Given the description of an element on the screen output the (x, y) to click on. 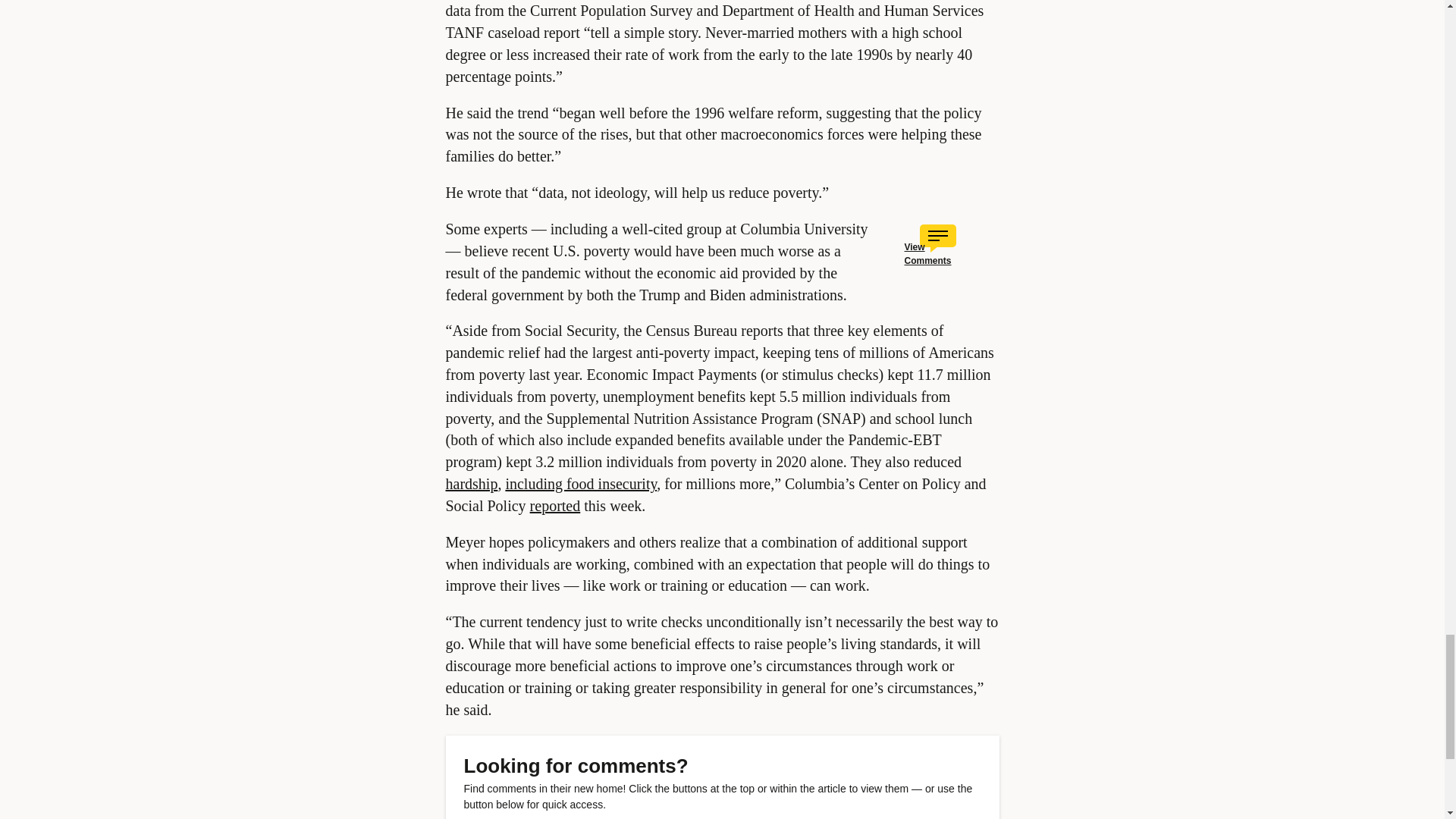
reported (554, 505)
including food insecurity (580, 483)
hardship (471, 483)
